Given the description of an element on the screen output the (x, y) to click on. 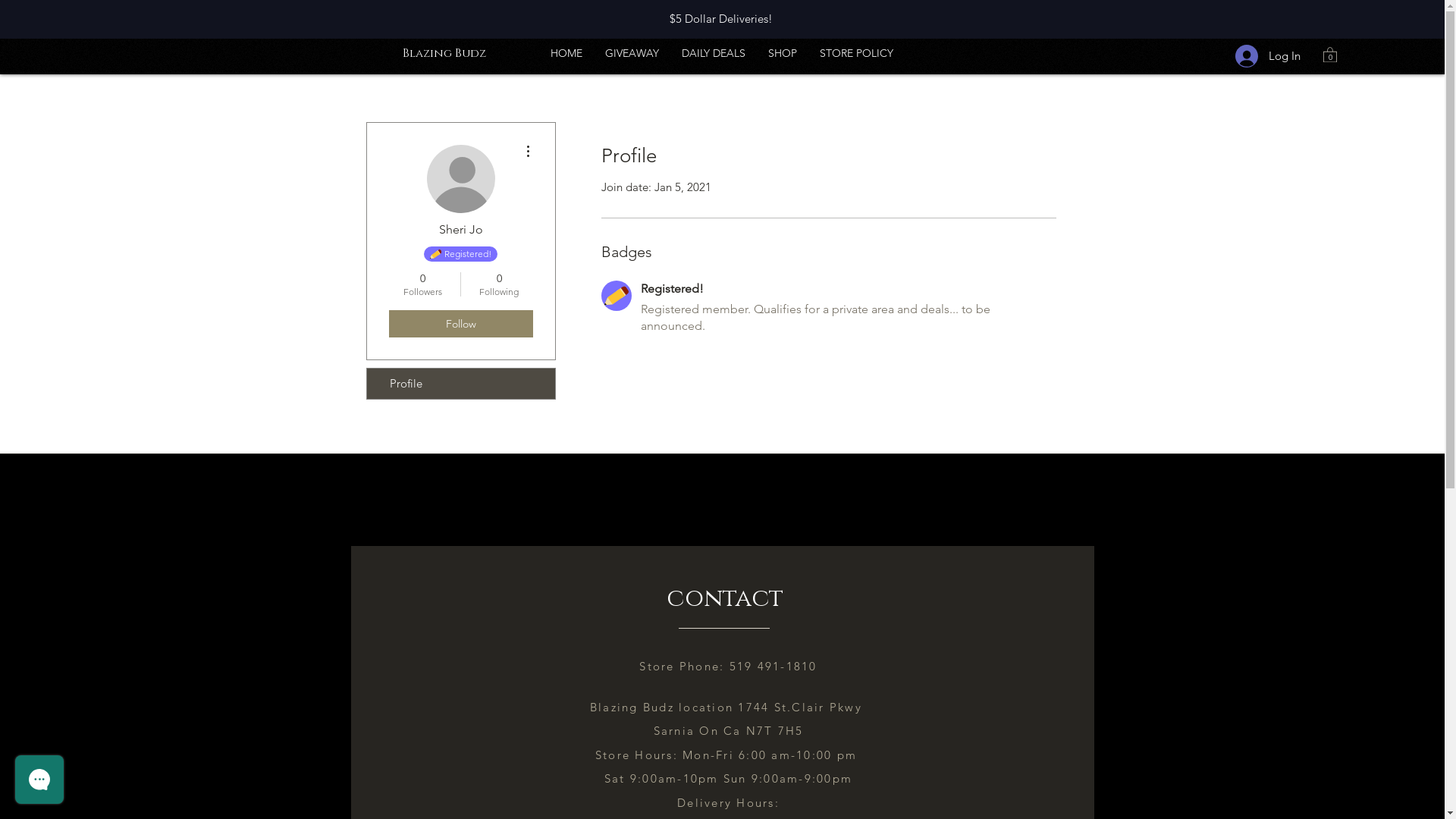
$5 Dollar Deliveries!  Element type: text (722, 18)
SHOP Element type: text (782, 52)
HOME Element type: text (566, 52)
0 Element type: text (1329, 54)
Blazing Budz Element type: text (444, 52)
Profile Element type: text (461, 383)
GIVEAWAY Element type: text (631, 52)
Follow Element type: text (460, 323)
Log In Element type: text (1267, 55)
STORE POLICY Element type: text (856, 52)
0
Followers Element type: text (421, 284)
0
Following Element type: text (499, 284)
DAILY DEALS Element type: text (713, 52)
